Given the description of an element on the screen output the (x, y) to click on. 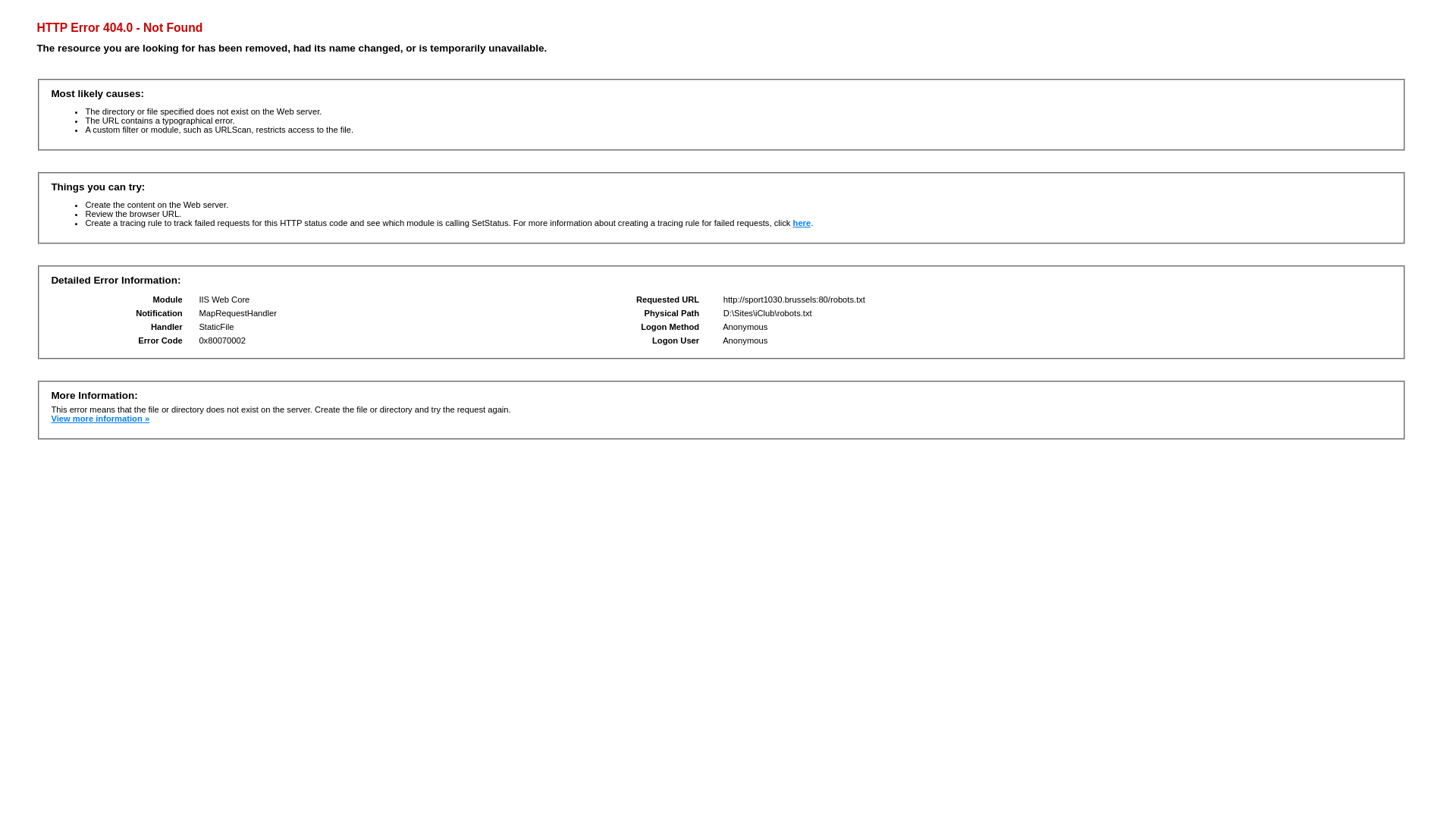
here Element type: text (802, 222)
